Given the description of an element on the screen output the (x, y) to click on. 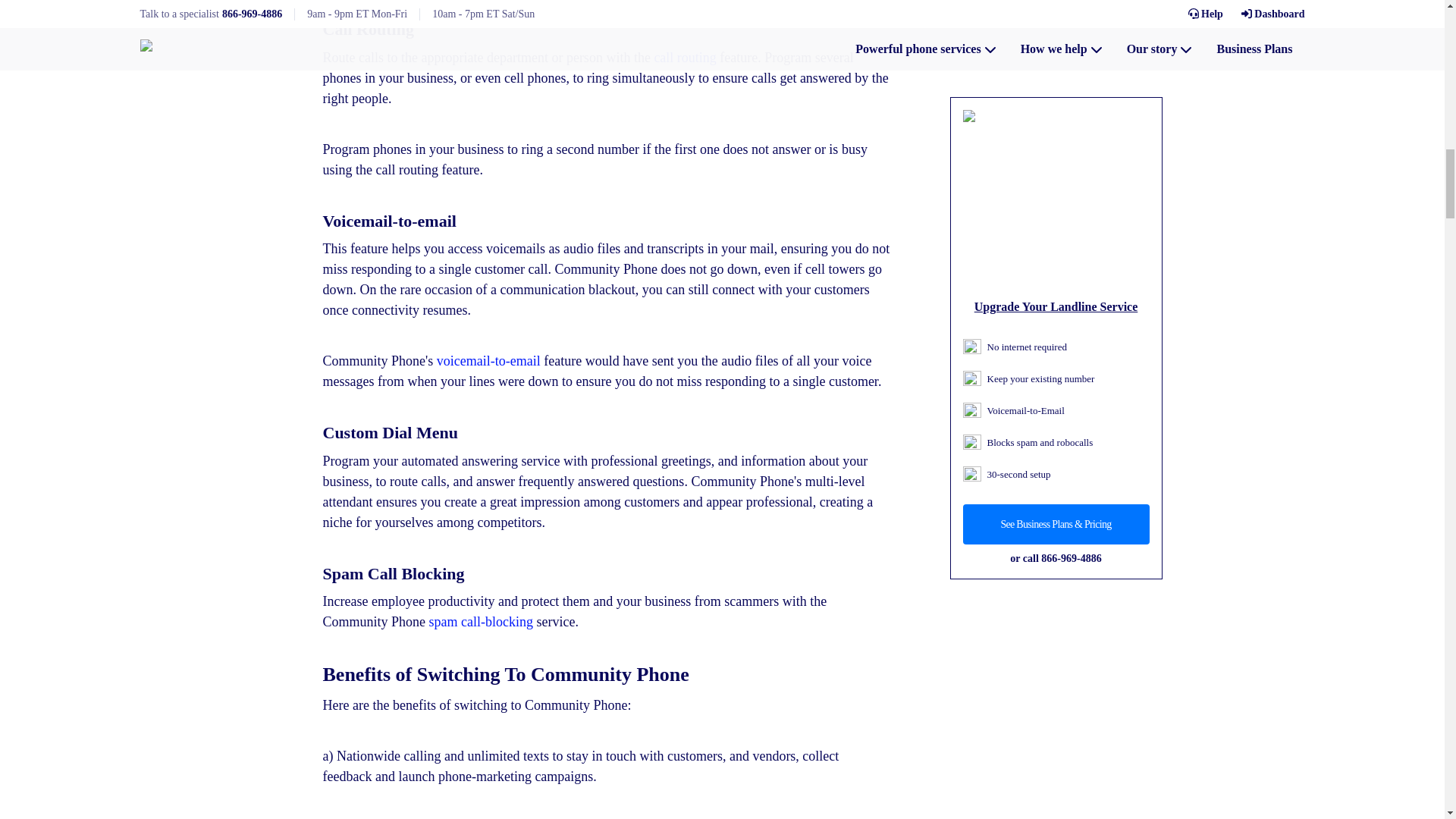
spam call-blocking (480, 621)
voicemail-to-email (488, 360)
call routing (684, 57)
